Given the description of an element on the screen output the (x, y) to click on. 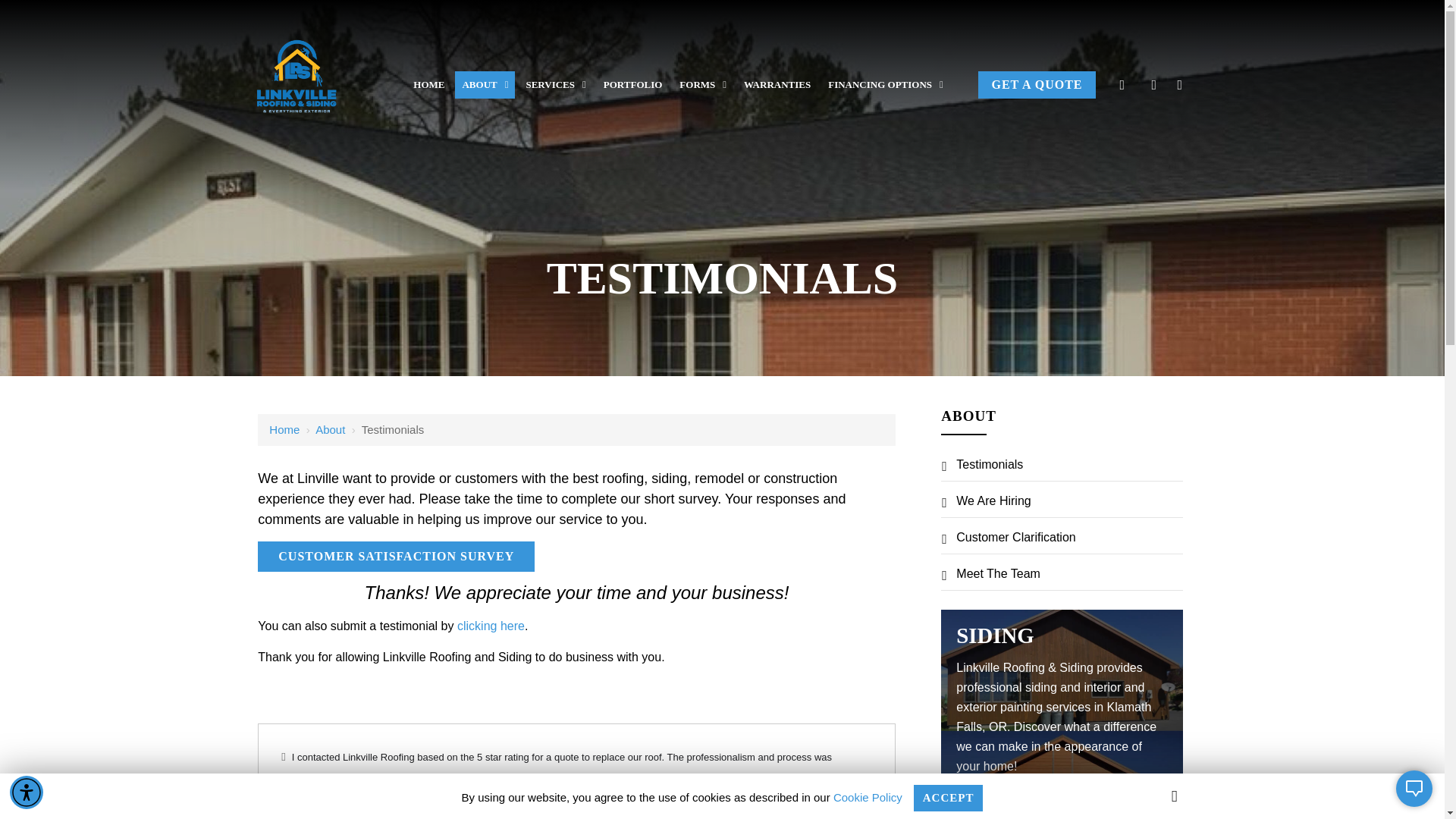
ABOUT (484, 84)
PORTFOLIO (632, 84)
GET A QUOTE (1036, 84)
SERVICES (555, 84)
HOME (428, 84)
FINANCING OPTIONS (885, 84)
Accessibility Menu (26, 792)
FORMS (702, 84)
WARRANTIES (776, 84)
